Given the description of an element on the screen output the (x, y) to click on. 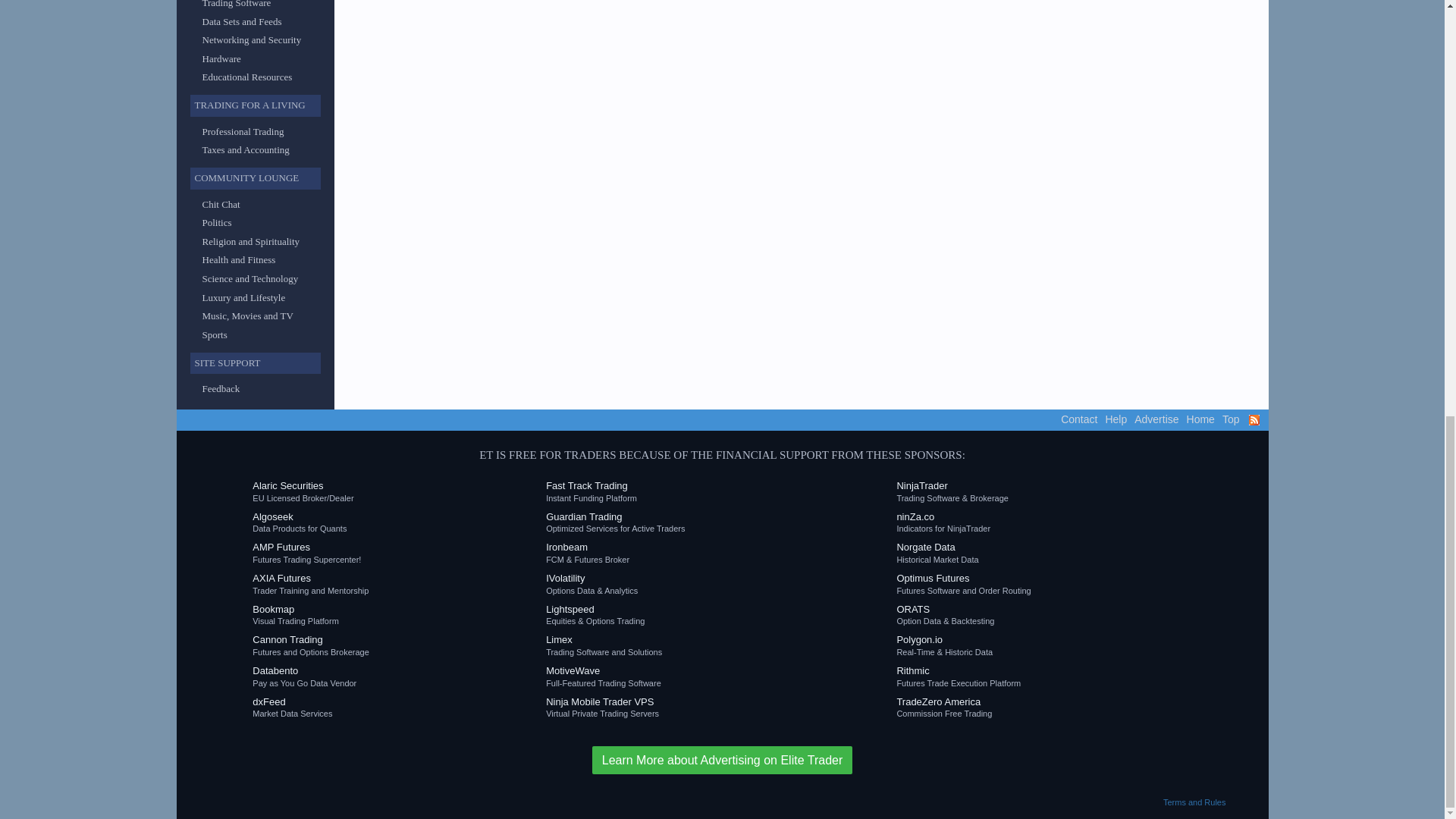
RSS feed for Elite Trader (1253, 419)
Networking and Security (251, 39)
Taxes and Accounting (245, 149)
Hardware (221, 58)
Data Sets and Feeds (241, 20)
Politics (216, 222)
Professional Trading (242, 131)
Trading Software (236, 4)
Educational Resources (247, 76)
Chit Chat (221, 204)
